Given the description of an element on the screen output the (x, y) to click on. 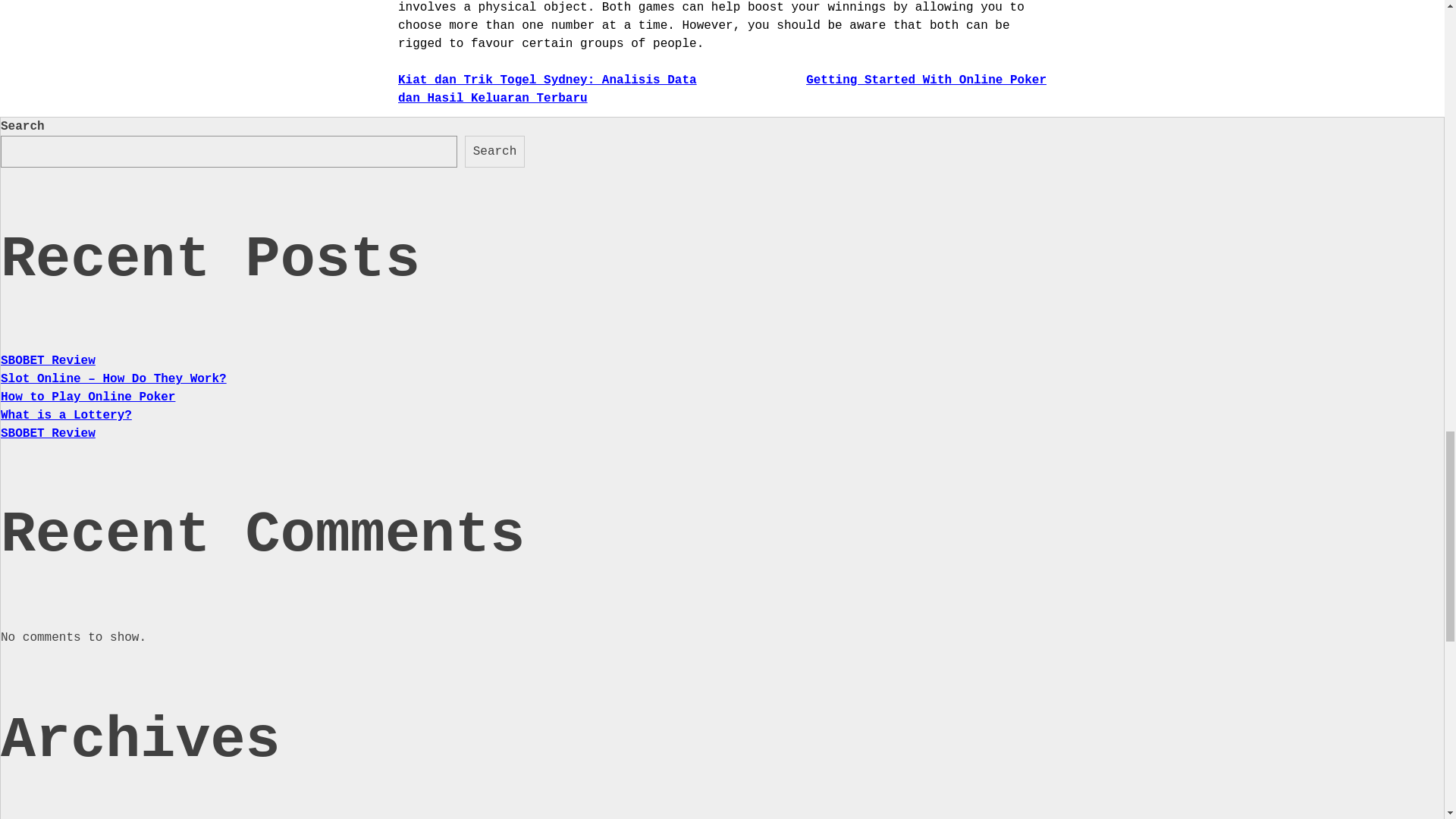
Search (494, 151)
How to Play Online Poker (87, 397)
SBOBET Review (48, 360)
SBOBET Review (48, 433)
What is a Lottery? (66, 415)
Getting Started With Online Poker (926, 79)
